Given the description of an element on the screen output the (x, y) to click on. 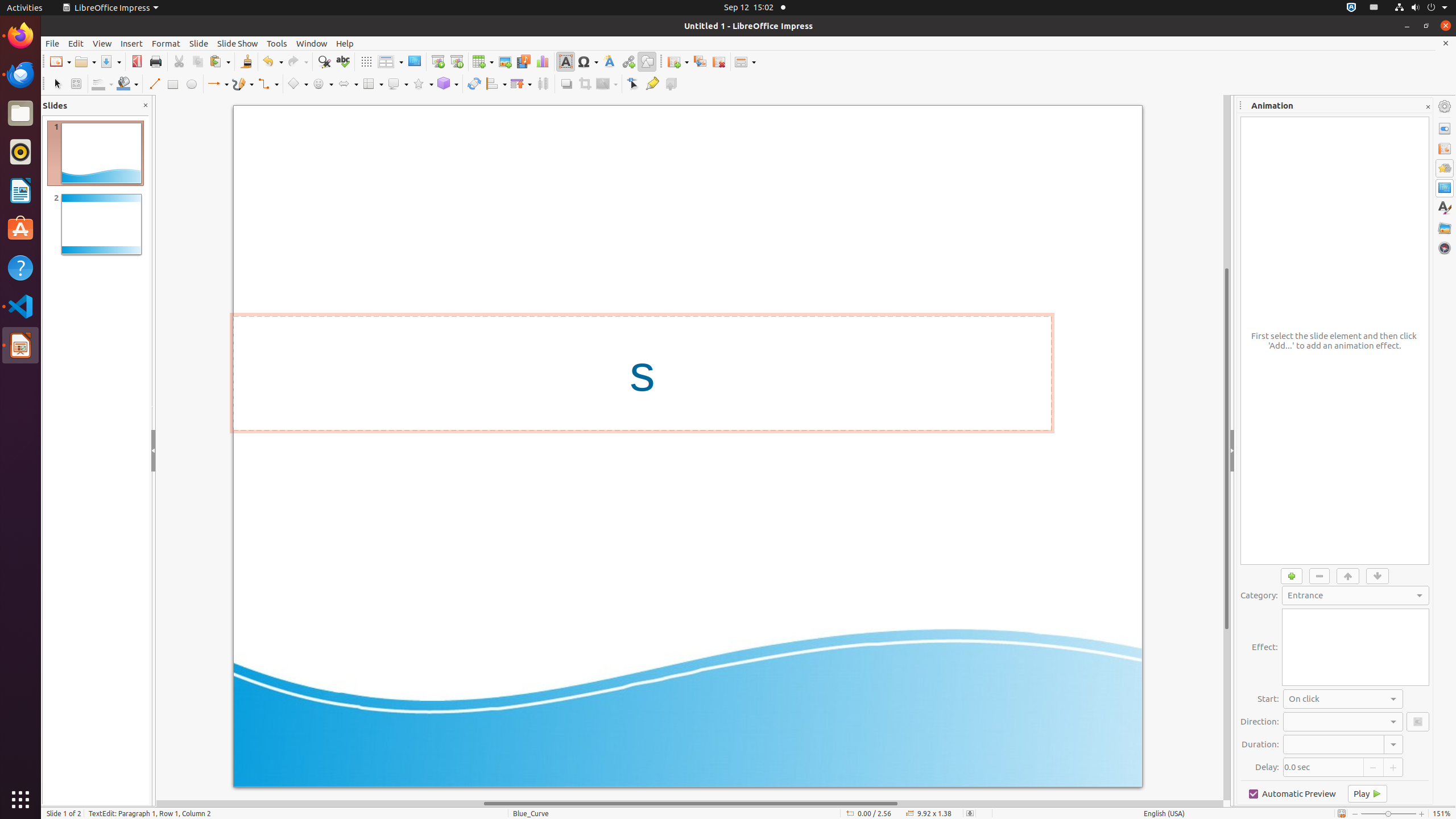
System Element type: menu (1420, 7)
Horizontal scroll bar Element type: scroll-bar (689, 803)
Star Shapes Element type: push-button (422, 83)
Gallery Element type: radio-button (1444, 227)
Arrow Shapes Element type: push-button (347, 83)
